Given the description of an element on the screen output the (x, y) to click on. 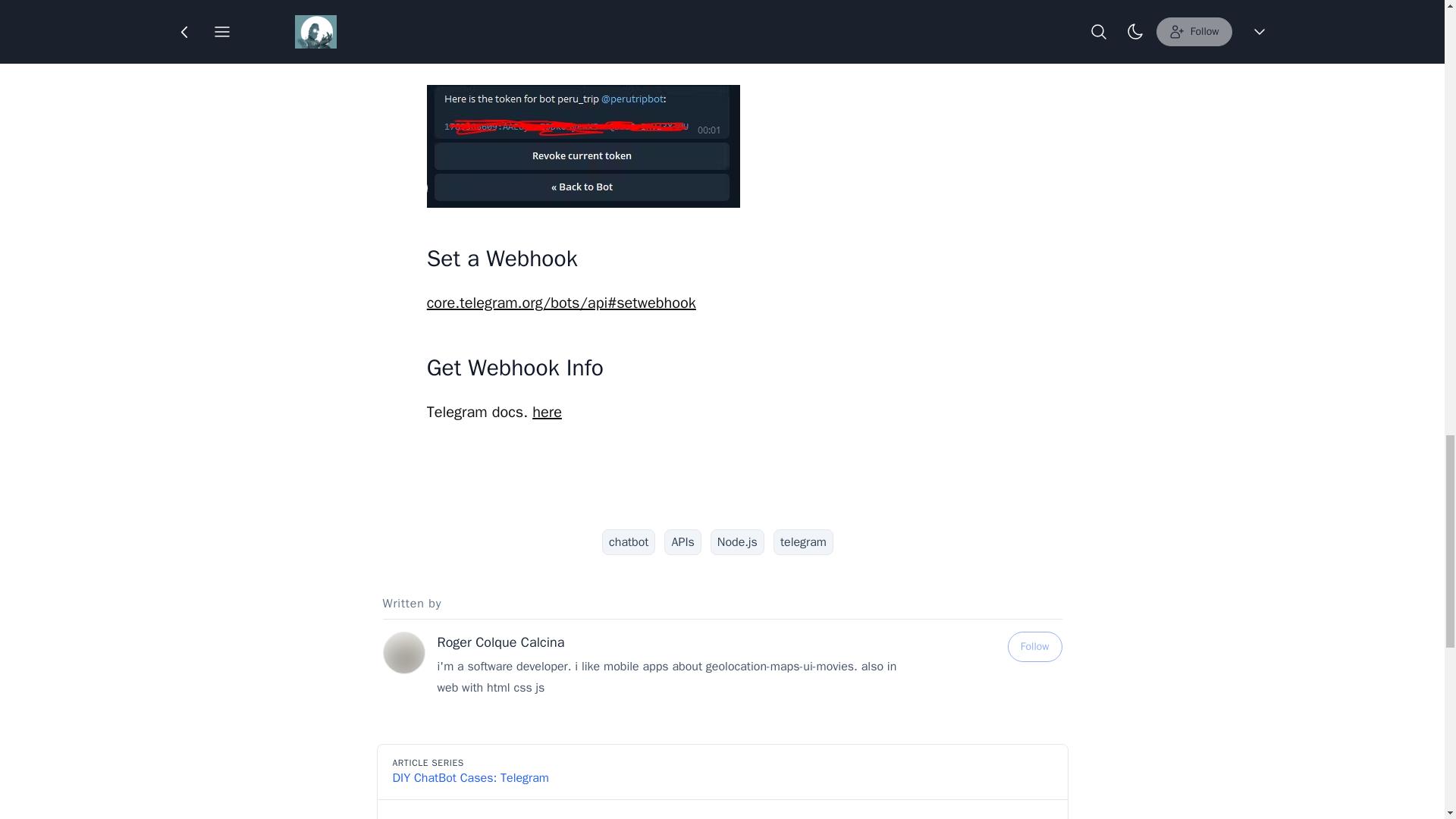
Node.js (737, 542)
APIs (681, 542)
telegram (802, 542)
here (547, 411)
chatbot (628, 542)
